Given the description of an element on the screen output the (x, y) to click on. 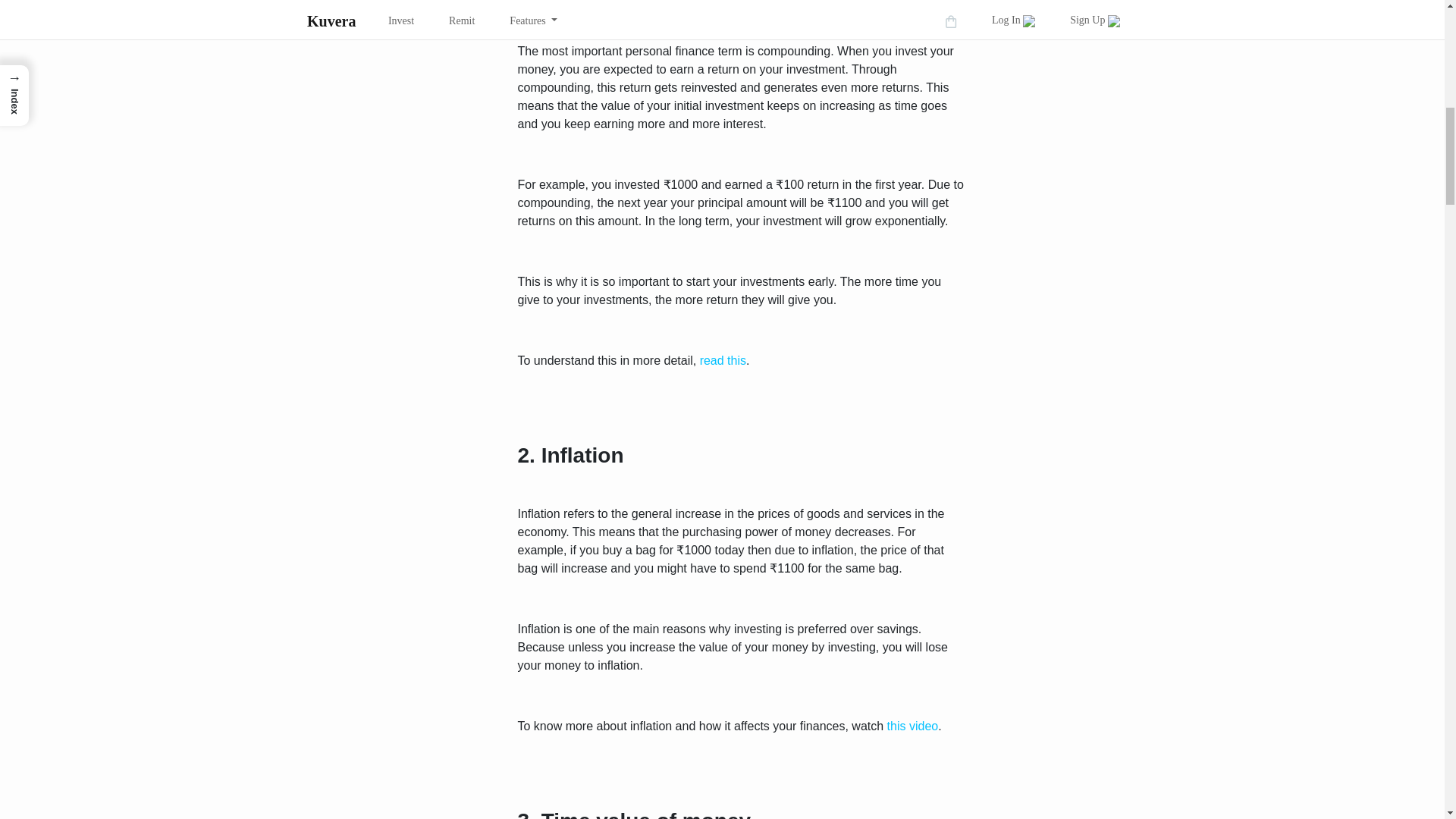
read this (722, 359)
